Given the description of an element on the screen output the (x, y) to click on. 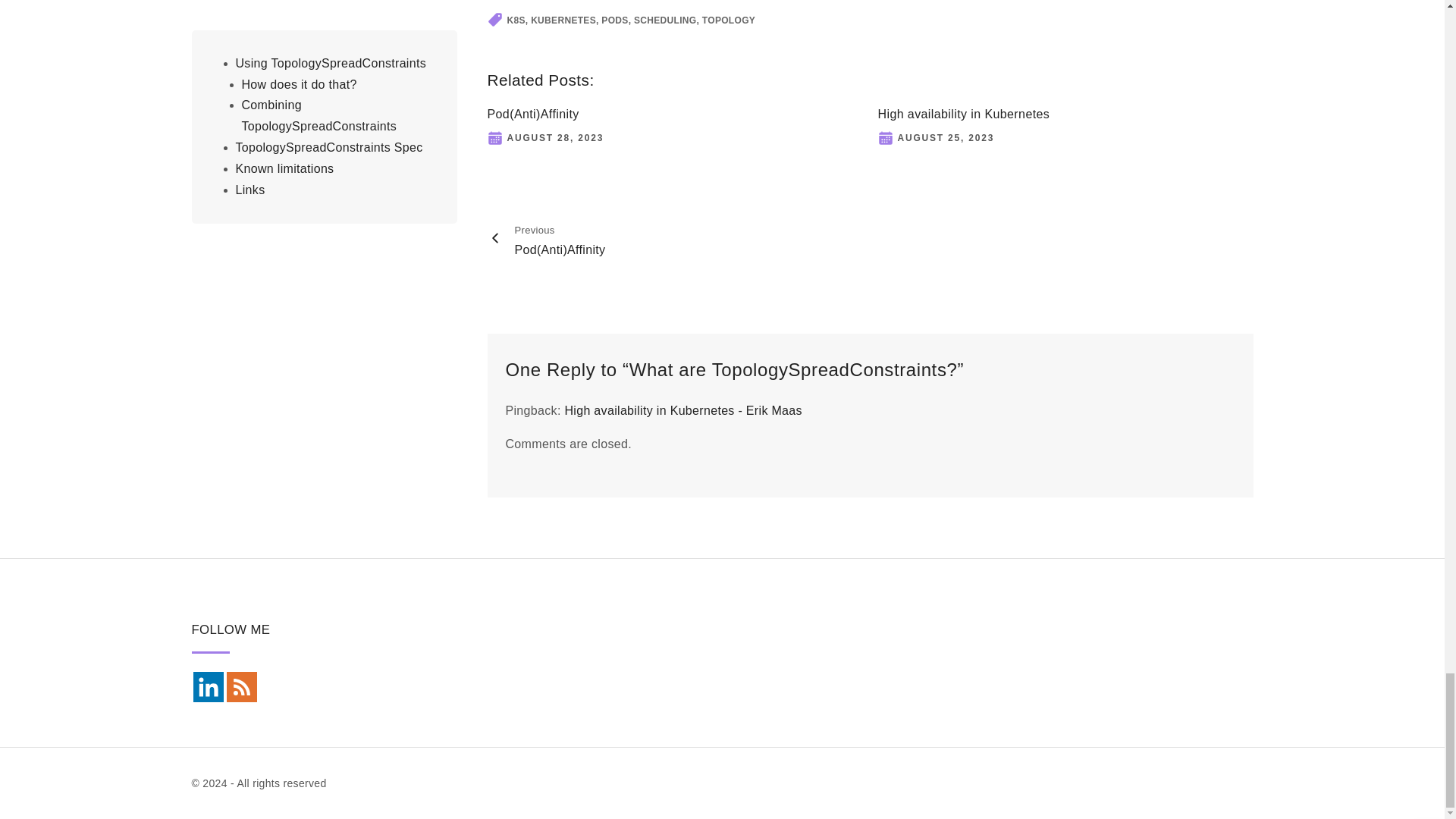
KUBERNETES (563, 20)
Linkedin (207, 686)
PODS (614, 20)
RSS feed (240, 686)
SCHEDULING (665, 20)
K8S (515, 20)
